Given the description of an element on the screen output the (x, y) to click on. 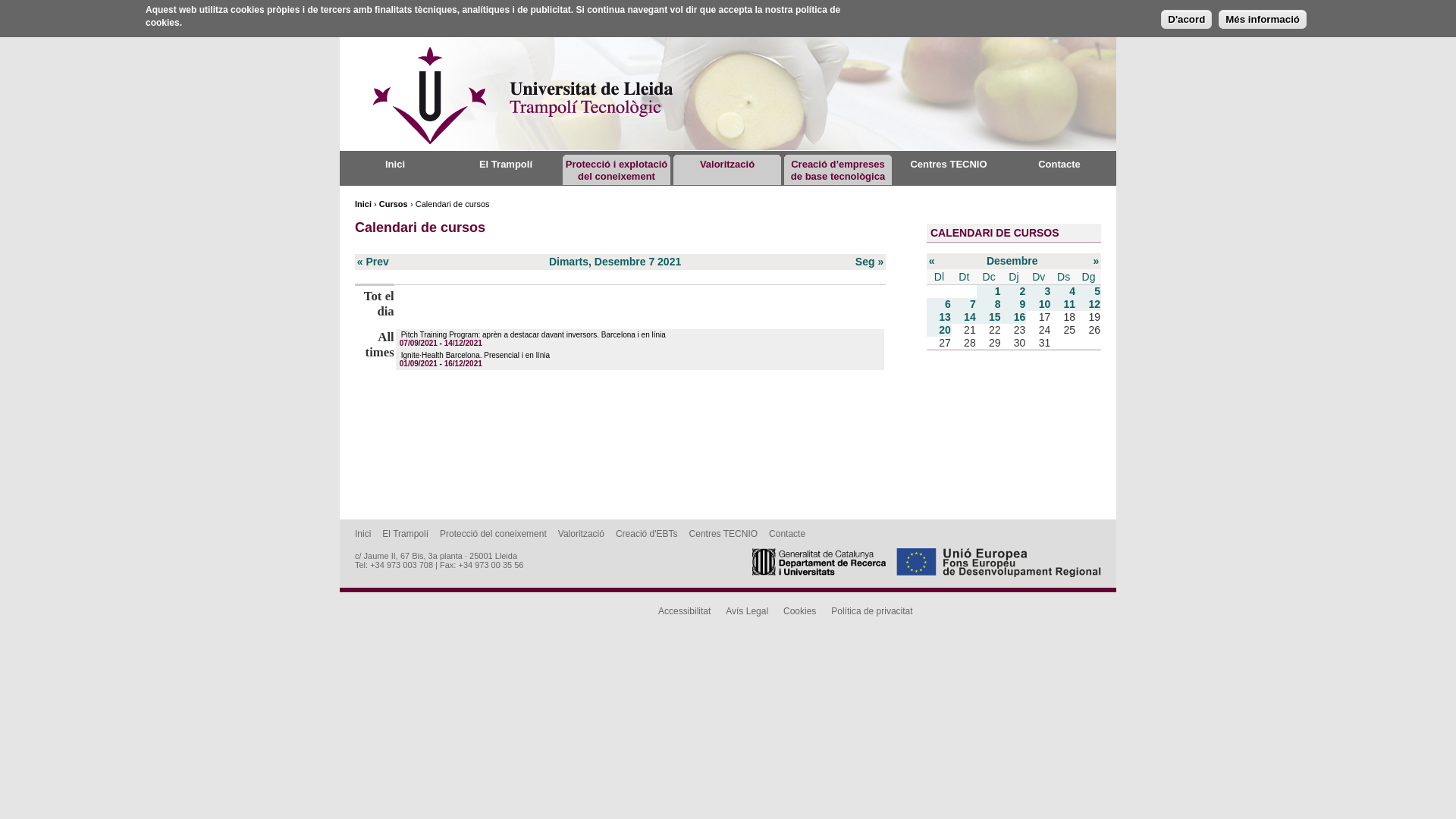
Contacte Element type: text (786, 533)
11 Element type: text (1069, 304)
Contacte Element type: text (1059, 163)
Inici Element type: text (362, 533)
Cursos Element type: text (393, 203)
Centres TECNIO Element type: text (723, 533)
16 Element type: text (1019, 316)
14 Element type: text (969, 316)
Inici Element type: text (362, 203)
6 Element type: text (947, 304)
4 Element type: text (1072, 291)
10 Element type: text (1044, 304)
2 Element type: text (1022, 291)
8 Element type: text (997, 304)
15 Element type: text (994, 316)
Inici Element type: text (394, 163)
Accessibilitat Element type: text (684, 610)
Centres TECNIO Element type: text (948, 163)
Desembre Element type: text (1012, 260)
20 Element type: text (944, 329)
13 Element type: text (944, 316)
D'acord Element type: text (1186, 18)
Cookies Element type: text (799, 610)
1 Element type: text (997, 291)
5 Element type: text (1097, 291)
3 Element type: text (1047, 291)
7 Element type: text (972, 304)
9 Element type: text (1022, 304)
12 Element type: text (1094, 304)
